Given the description of an element on the screen output the (x, y) to click on. 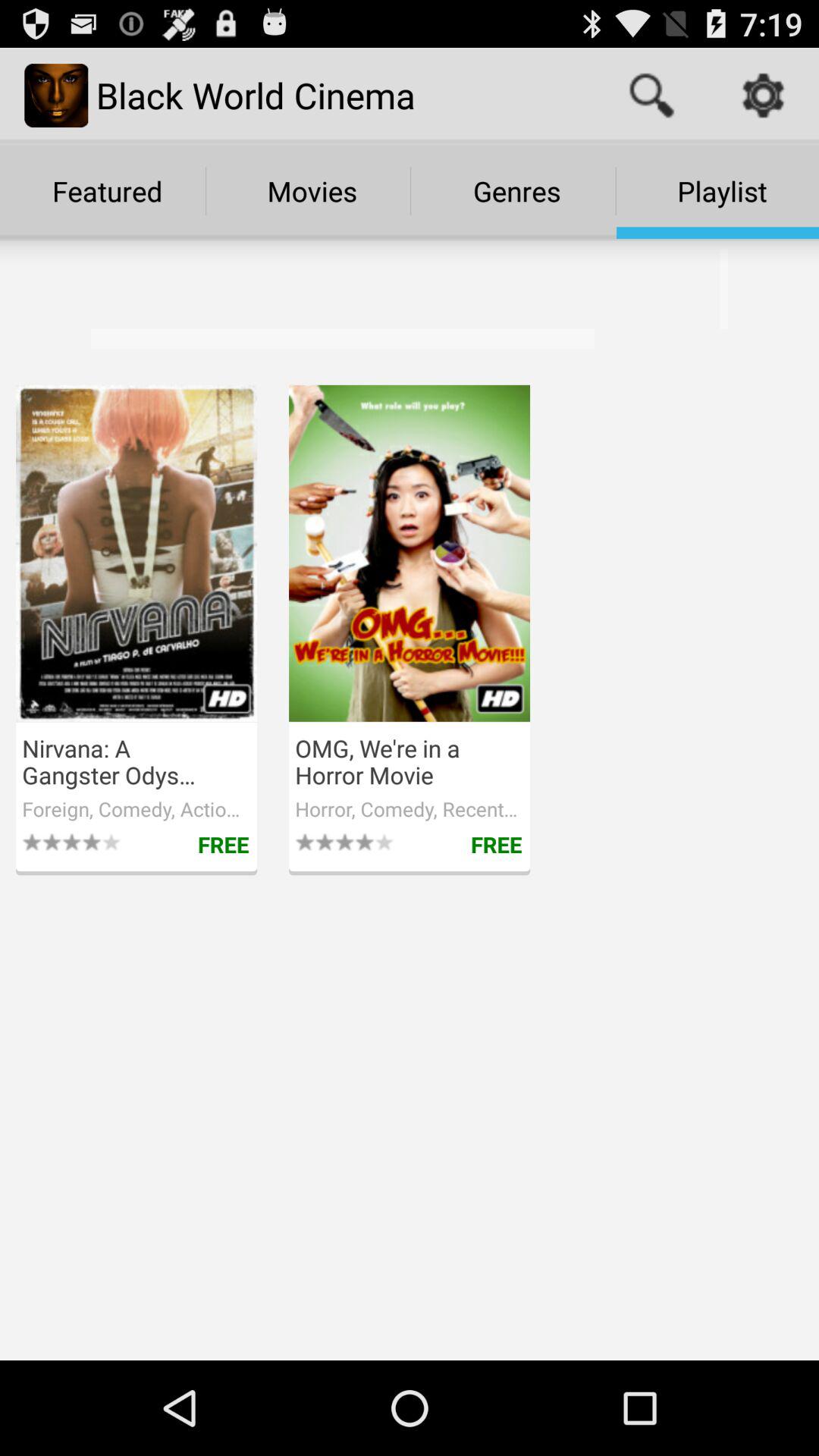
press the item above playlist icon (763, 95)
